Given the description of an element on the screen output the (x, y) to click on. 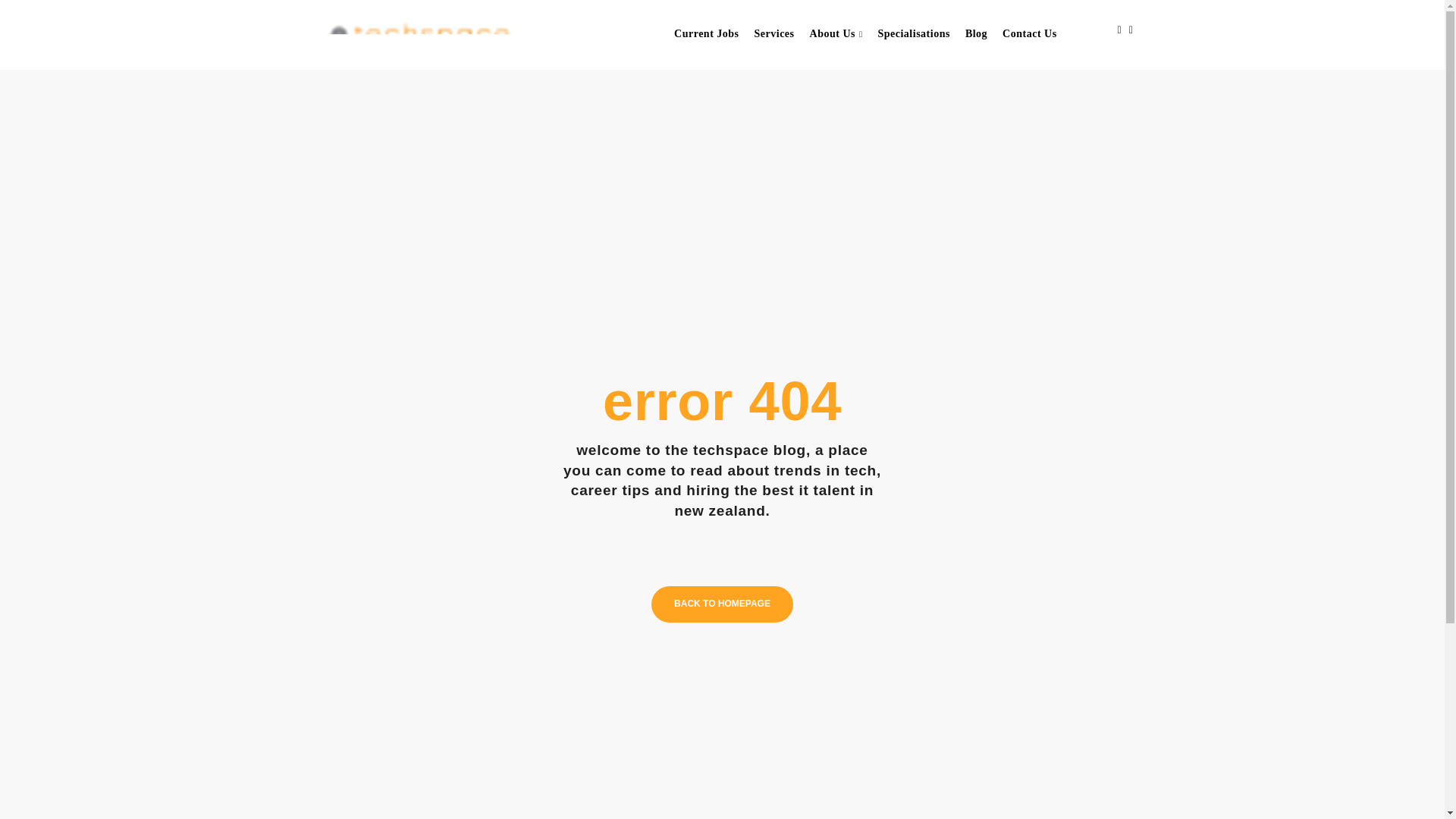
Blog (976, 33)
Services (774, 33)
Current Jobs (705, 33)
Contact us (1029, 33)
About Us (836, 33)
Services (774, 33)
Specialisations (912, 33)
Contact Us (1029, 33)
BACK TO HOMEPAGE (721, 604)
Blog (976, 33)
